Given the description of an element on the screen output the (x, y) to click on. 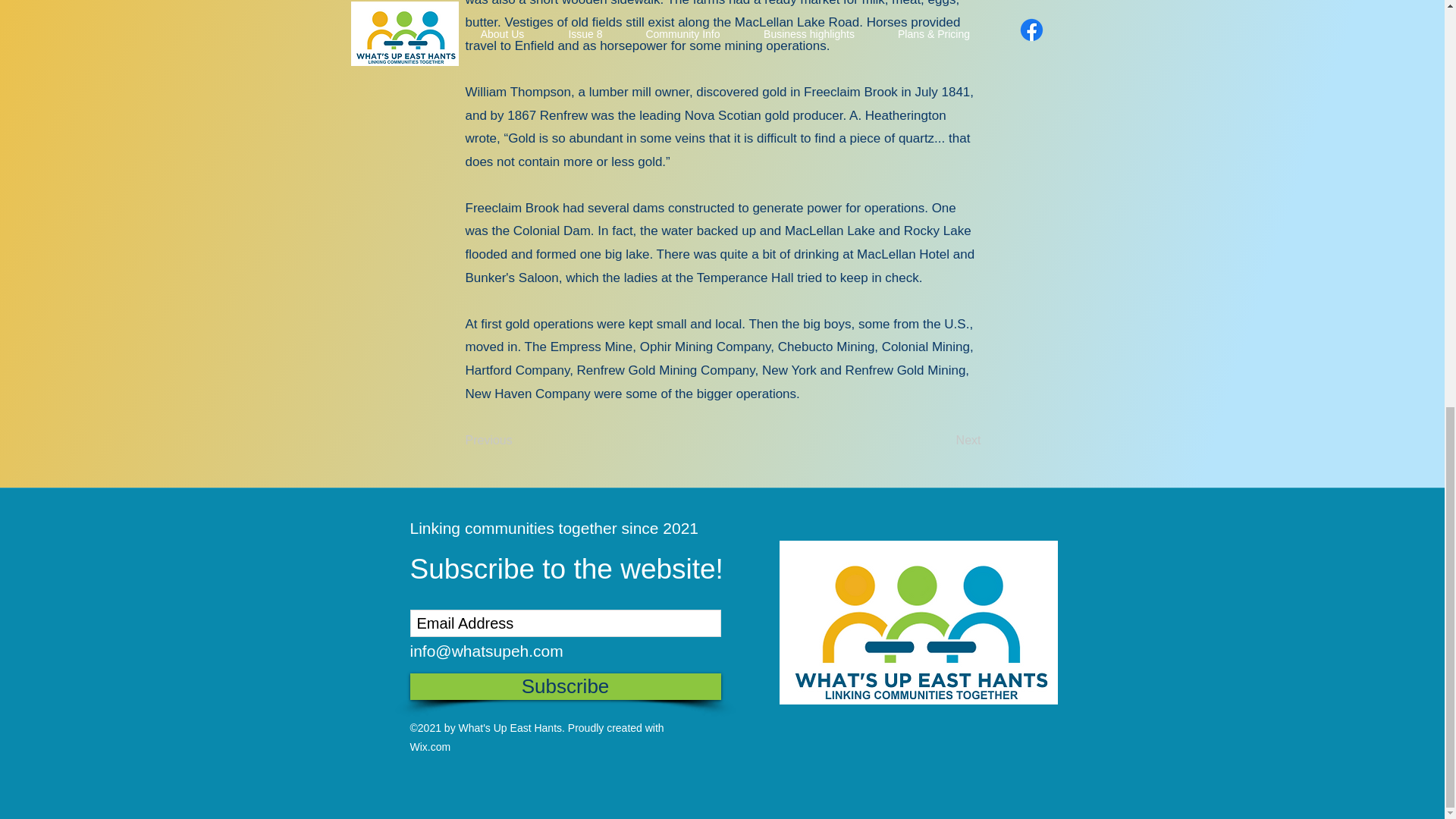
Subscribe (564, 686)
Next (943, 440)
Previous (515, 440)
